Given the description of an element on the screen output the (x, y) to click on. 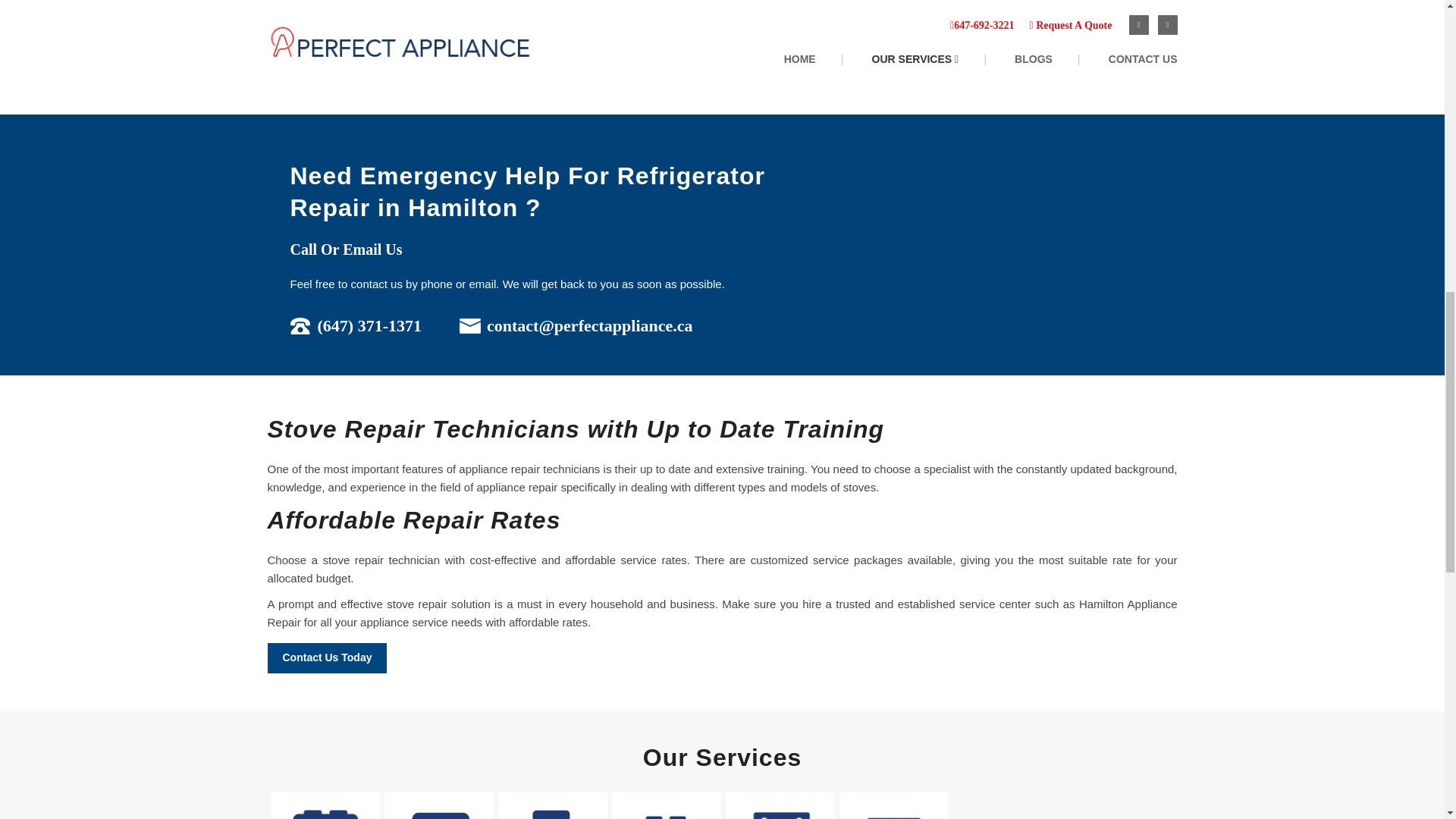
Dishwasher Repair Hamilton (779, 805)
Contact Us Today (326, 657)
Washing Machine Repair Hamilton (438, 805)
Stove Repair Hamilton (552, 805)
Fridge Repair Hamilton (323, 805)
Oven Repair Hamilton (665, 805)
Dryer Repair Hamilton (894, 805)
Contact Us Today (326, 38)
